Given the description of an element on the screen output the (x, y) to click on. 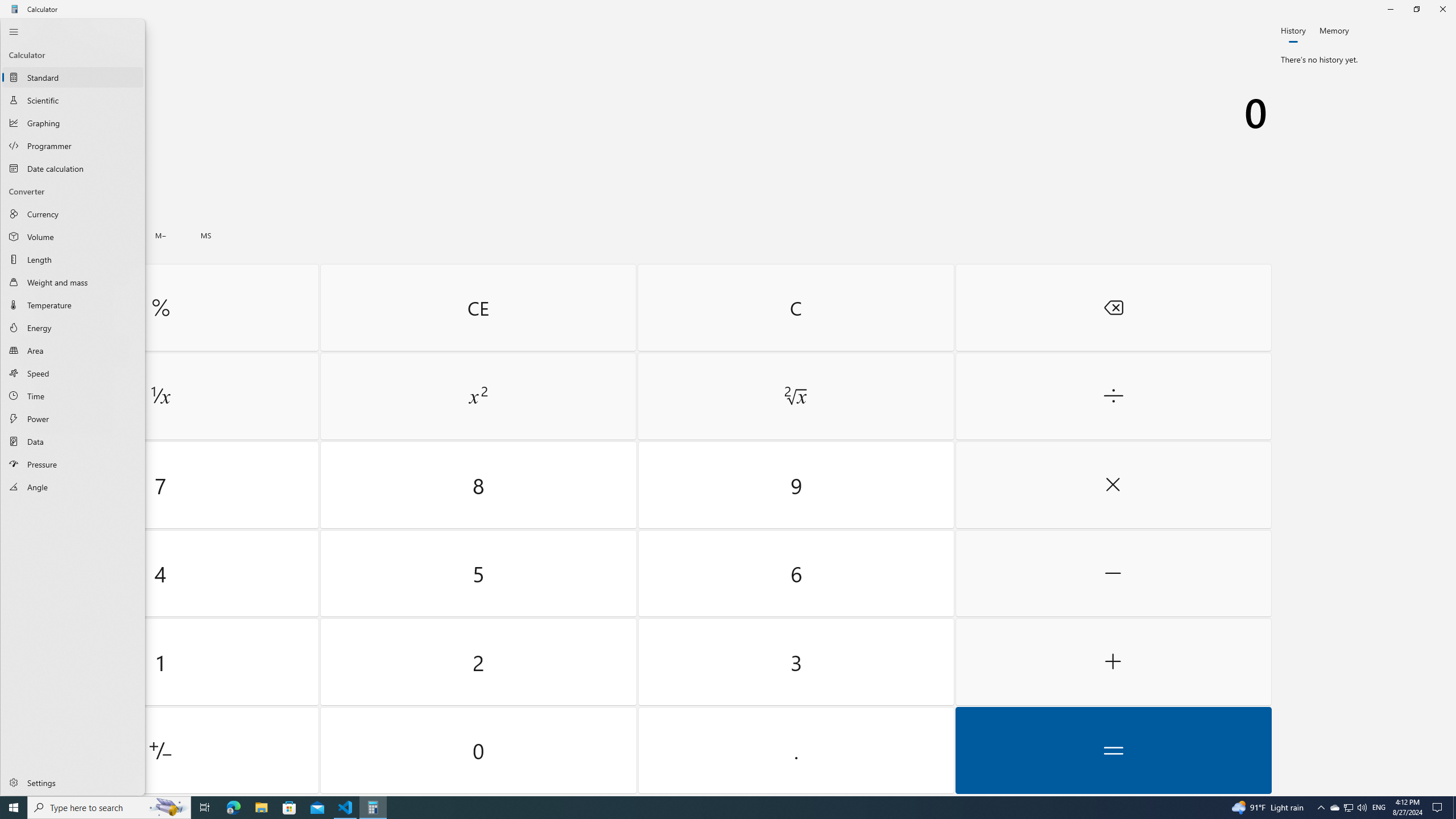
Angle Converter (72, 486)
Data Converter (72, 440)
Reciprocal (160, 396)
Five (478, 572)
Temperature Converter (72, 304)
Clear (795, 307)
Time Converter (72, 395)
Minus (1113, 572)
